Given the description of an element on the screen output the (x, y) to click on. 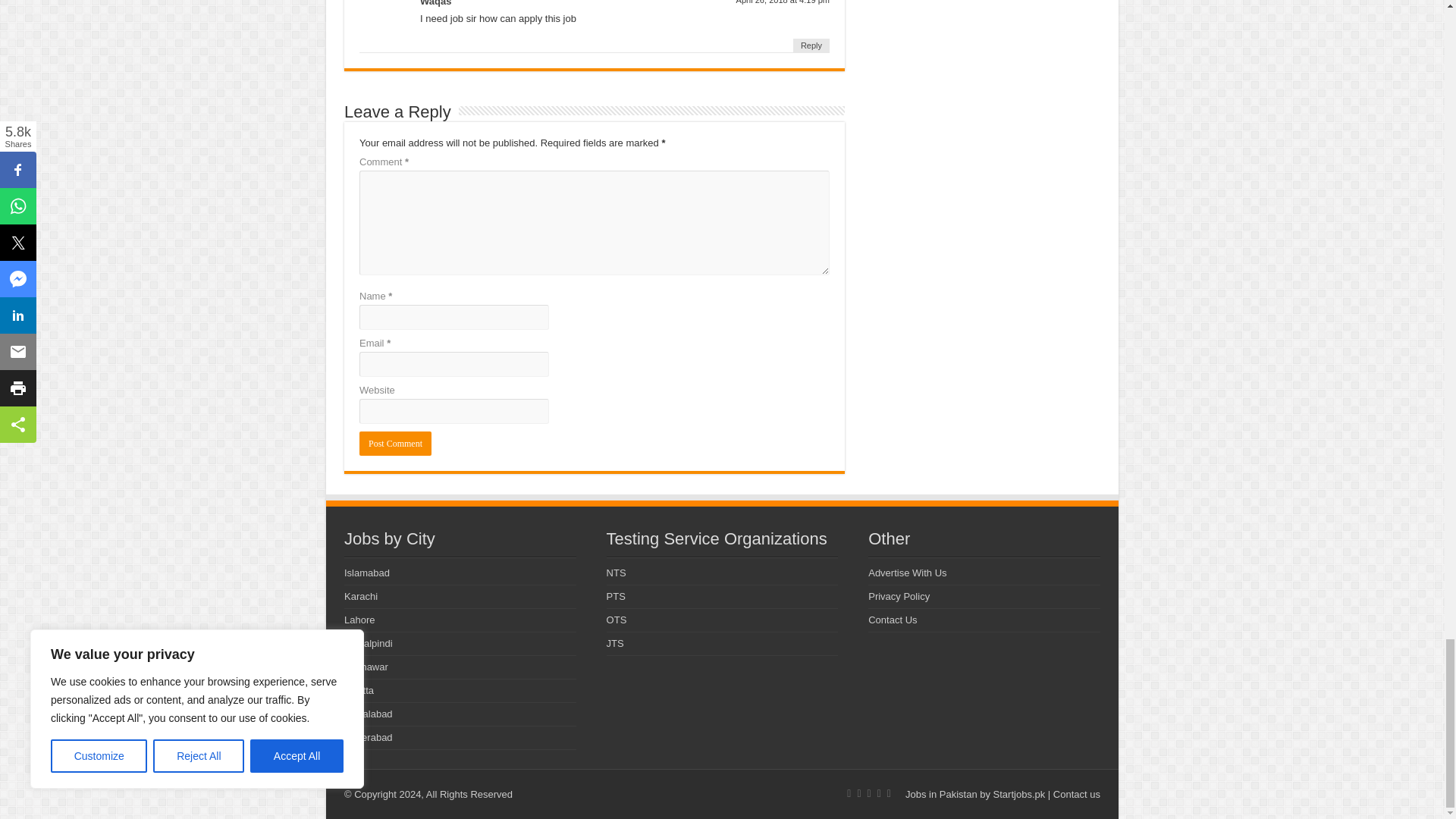
Post Comment (394, 443)
